Given the description of an element on the screen output the (x, y) to click on. 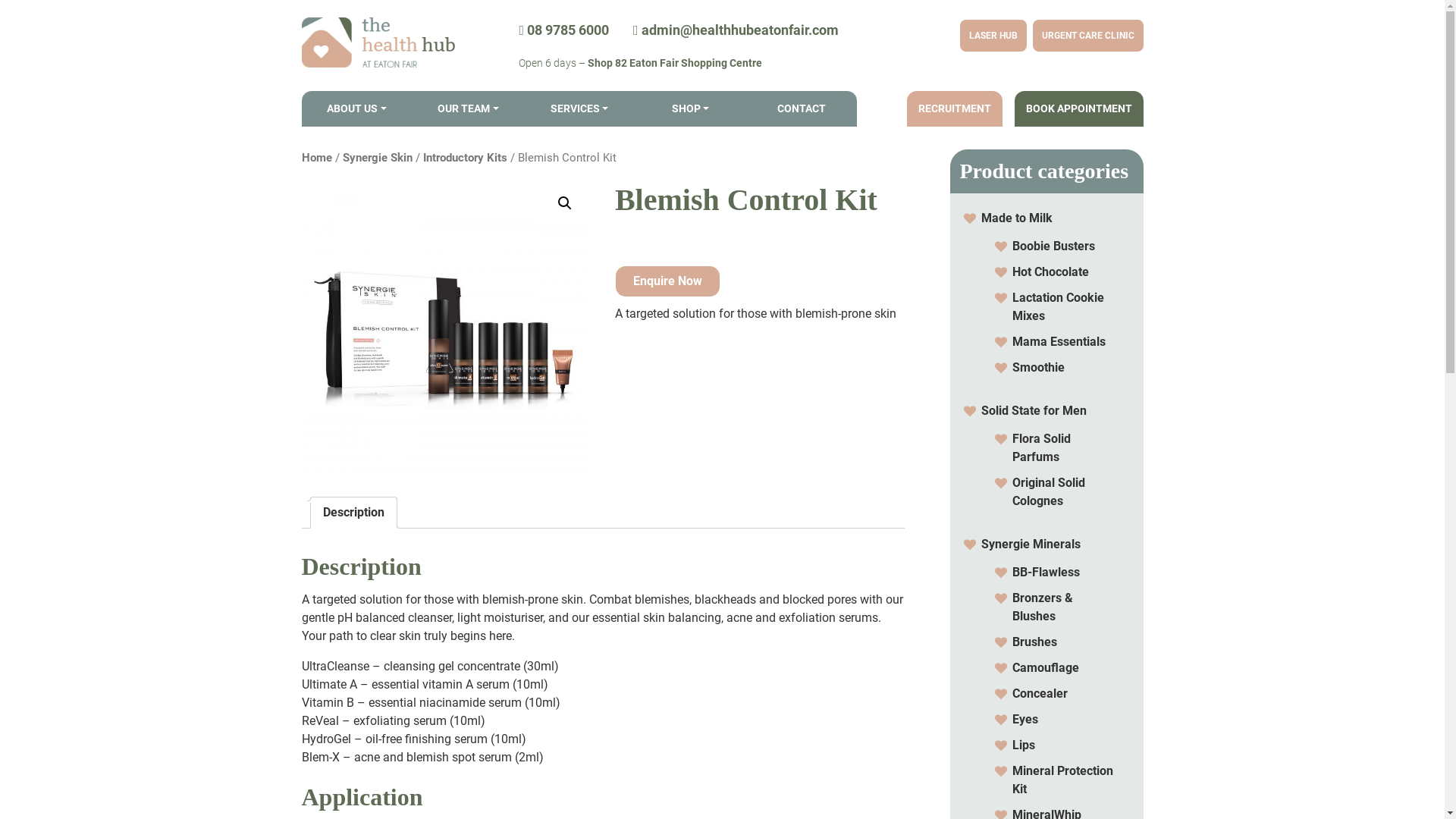
RECRUITMENT Element type: text (954, 108)
CONTACT Element type: text (801, 108)
Eyes Element type: text (1024, 719)
Flora Solid Parfums Element type: text (1040, 447)
admin@healthhubeatonfair.com Element type: text (735, 29)
Original Solid Colognes Element type: text (1047, 491)
SHOP Element type: text (690, 108)
Shop 82 Eaton Fair Shopping Centre Element type: text (674, 62)
08 9785 6000 Element type: text (563, 29)
Description Element type: text (353, 512)
Lactation Cookie Mixes Element type: text (1057, 306)
Home Element type: text (316, 157)
SERVICES Element type: text (579, 108)
Solid State for Men Element type: text (1033, 410)
Boobie Busters Element type: text (1052, 245)
Introductory Kits Element type: text (465, 157)
Mama Essentials Element type: text (1057, 341)
ABOUT US Element type: text (356, 108)
Synergie Minerals Element type: text (1030, 543)
OUR TEAM Element type: text (468, 108)
BB-Flawless Element type: text (1045, 571)
Camouflage Element type: text (1044, 667)
Hot Chocolate Element type: text (1049, 271)
LASER HUB Element type: text (993, 35)
Smoothie Element type: text (1037, 367)
Bronzers & Blushes Element type: text (1041, 606)
Brushes Element type: text (1033, 641)
Blemish Control Kit_web Element type: hover (446, 324)
Mineral Protection Kit Element type: text (1061, 779)
Concealer Element type: text (1038, 693)
Synergie Skin Element type: text (377, 157)
Lips Element type: text (1022, 744)
Made to Milk Element type: text (1016, 217)
URGENT CARE CLINIC Element type: text (1087, 35)
BOOK APPOINTMENT Element type: text (1078, 108)
